Given the description of an element on the screen output the (x, y) to click on. 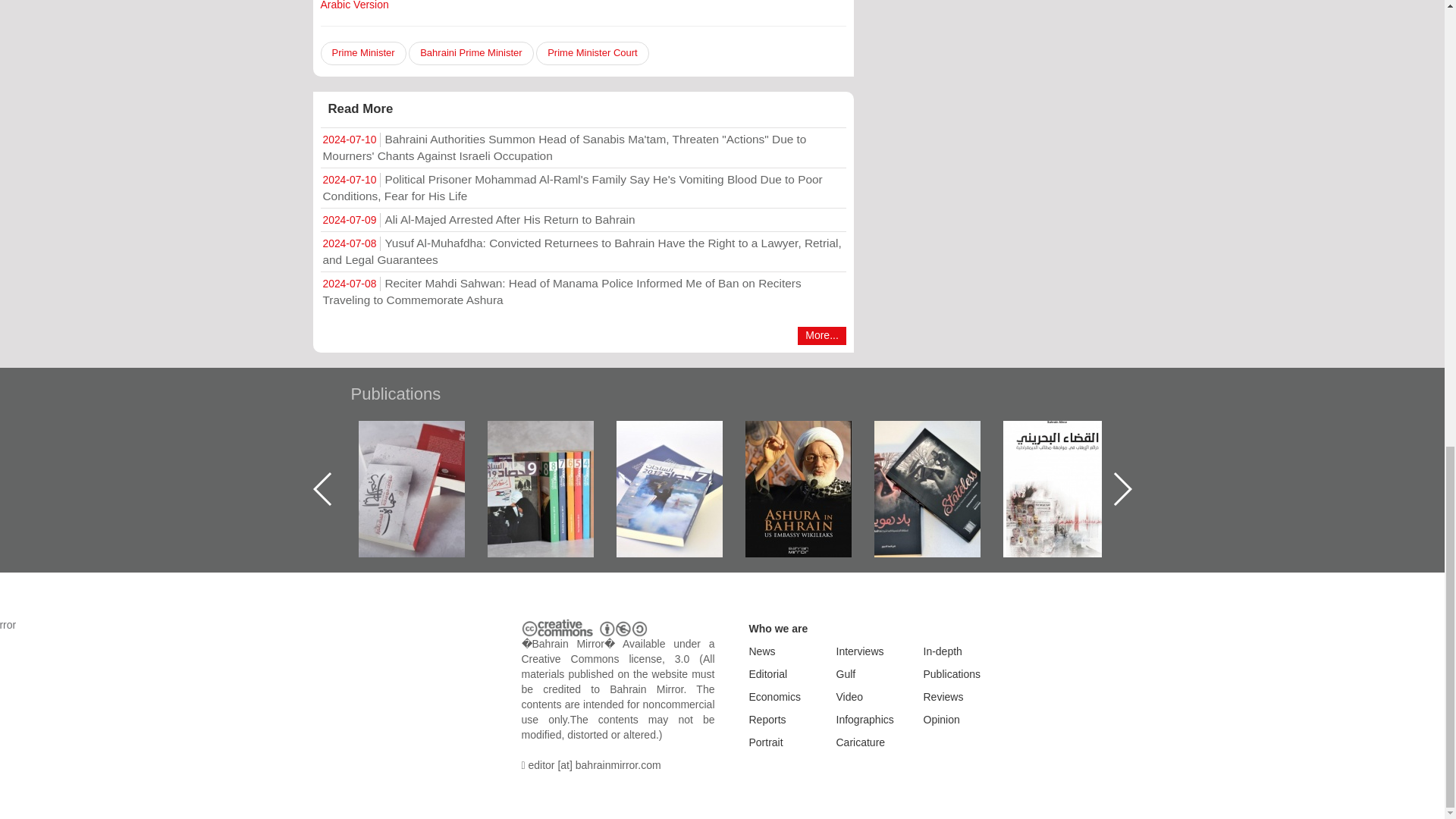
Arabic Version (354, 5)
Prime Minister (363, 53)
Bahraini Prime Minister (470, 53)
Prime Minister Court (591, 53)
